Given the description of an element on the screen output the (x, y) to click on. 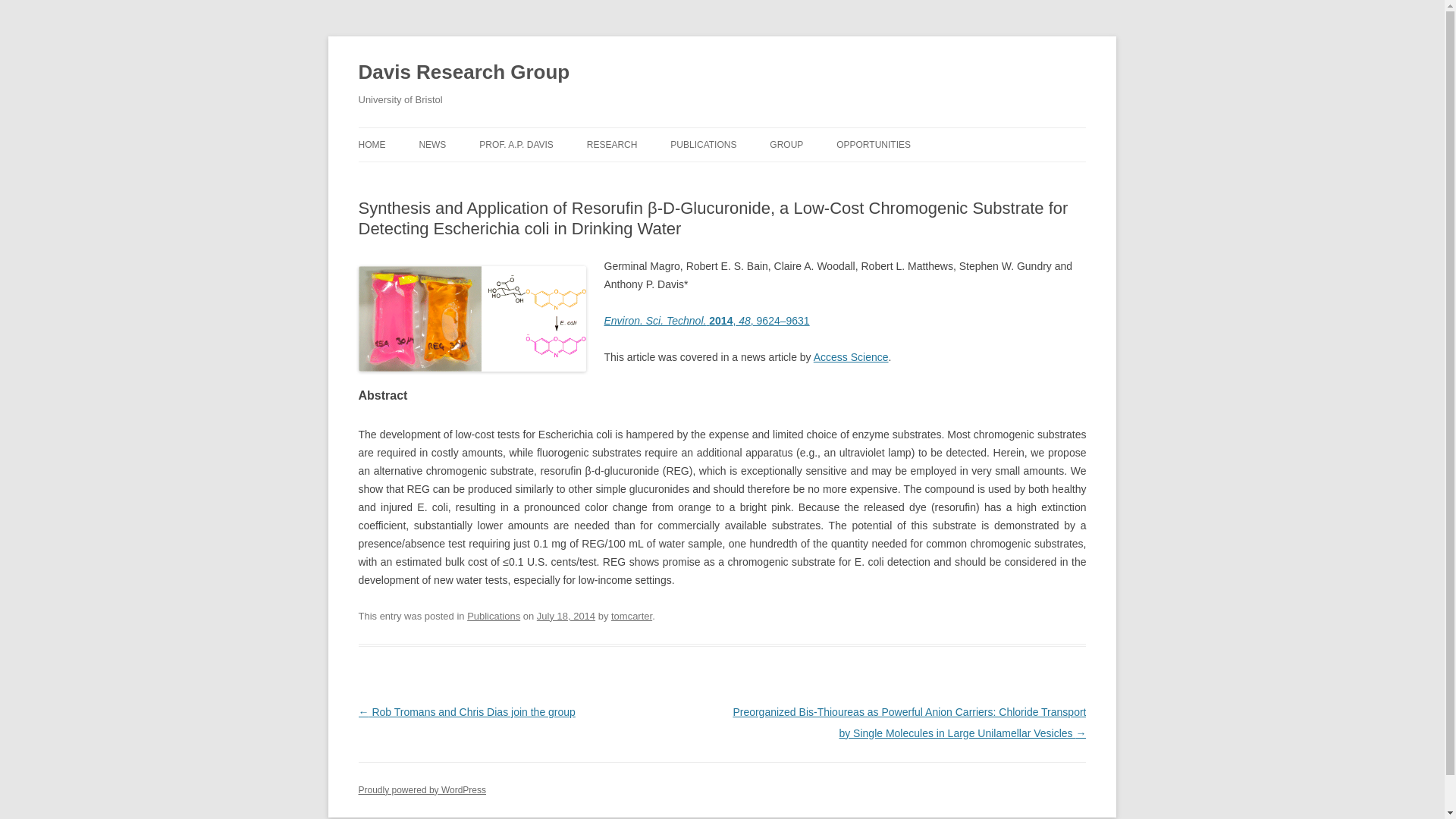
View all posts by tomcarter (631, 615)
Access Science (850, 357)
PROF. A.P. DAVIS (516, 144)
Access Science (850, 357)
Davis Research Group (463, 72)
RESEARCH (611, 144)
PHD STUDENTSHIPS (911, 176)
GROUP (786, 144)
OPPORTUNITIES (873, 144)
tomcarter (631, 615)
PUBLICATIONS (702, 144)
12:52 pm (566, 615)
July 18, 2014 (566, 615)
POSTDOCTORAL RESEARCHERS (845, 176)
